Given the description of an element on the screen output the (x, y) to click on. 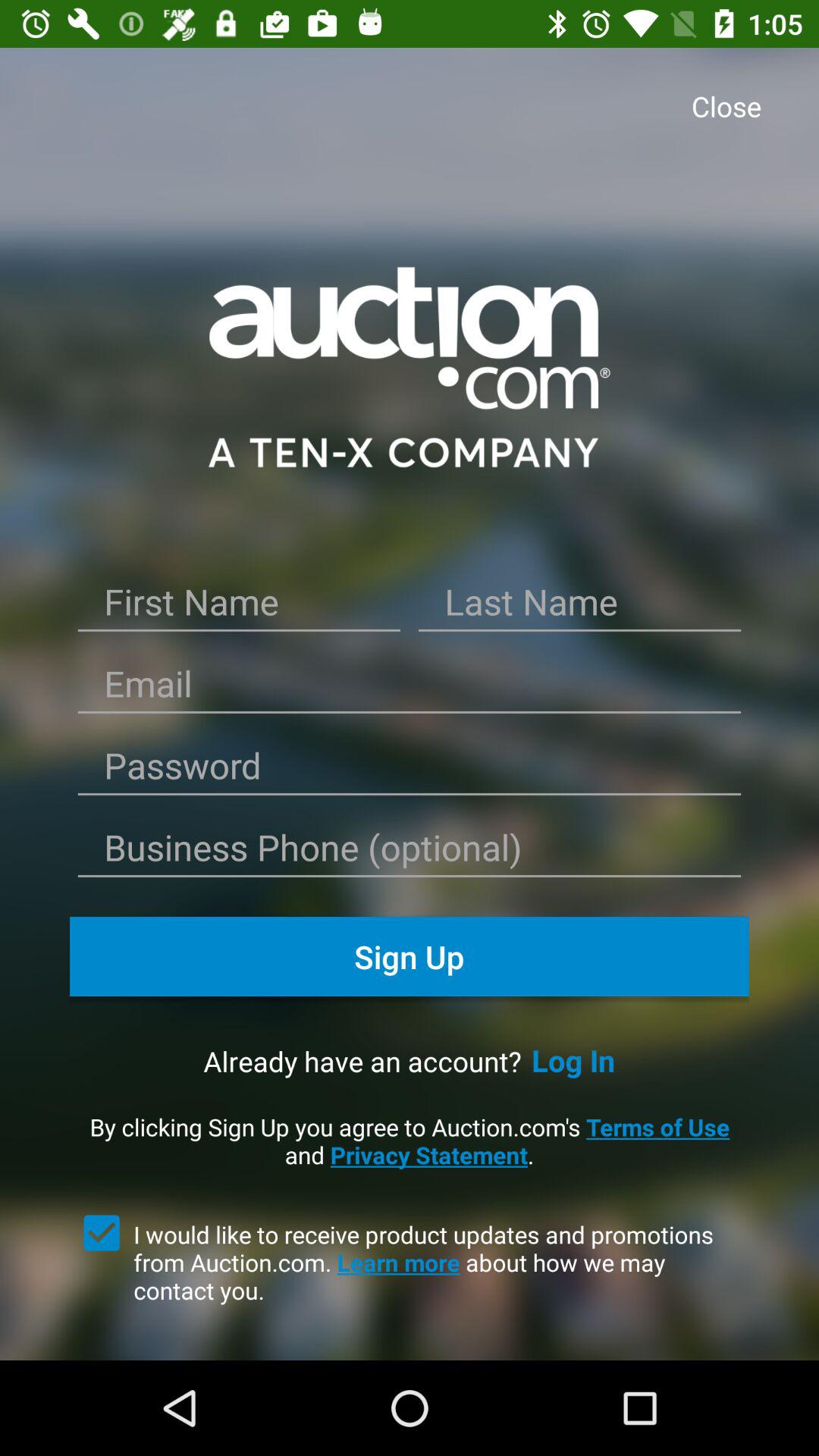
tap item at the top right corner (731, 107)
